Given the description of an element on the screen output the (x, y) to click on. 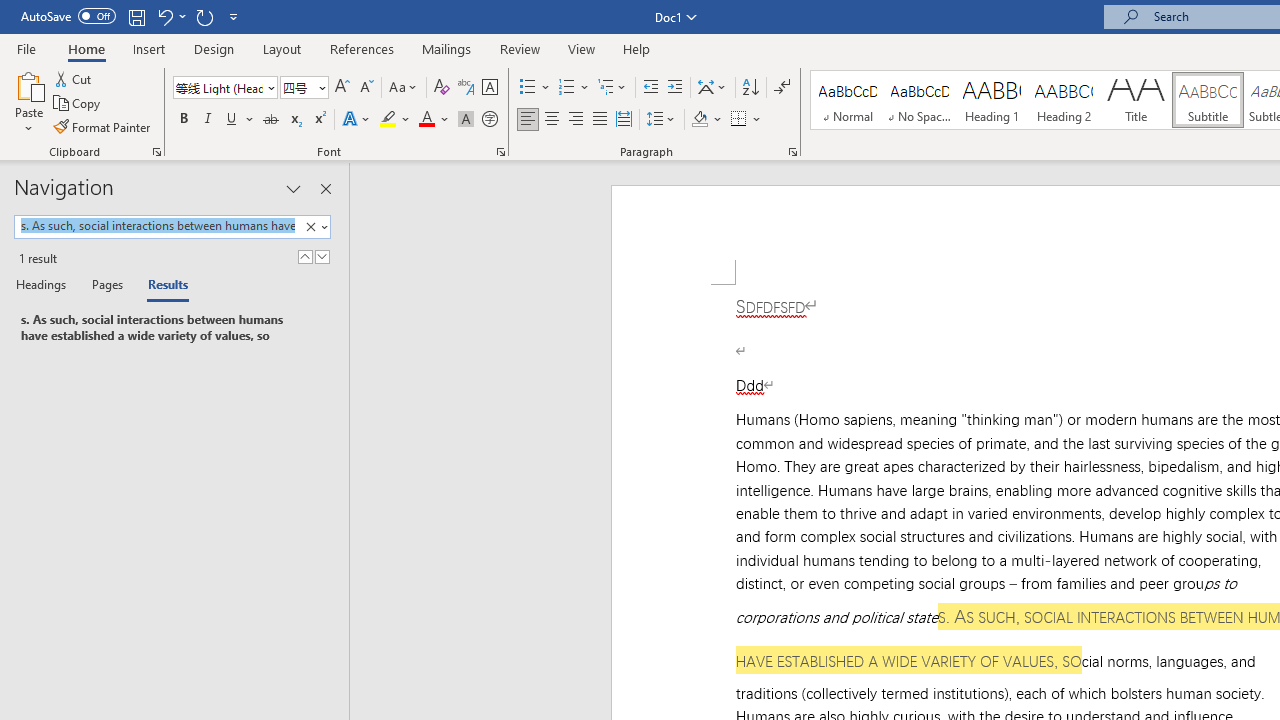
Font Color RGB(255, 0, 0) (426, 119)
